Given the description of an element on the screen output the (x, y) to click on. 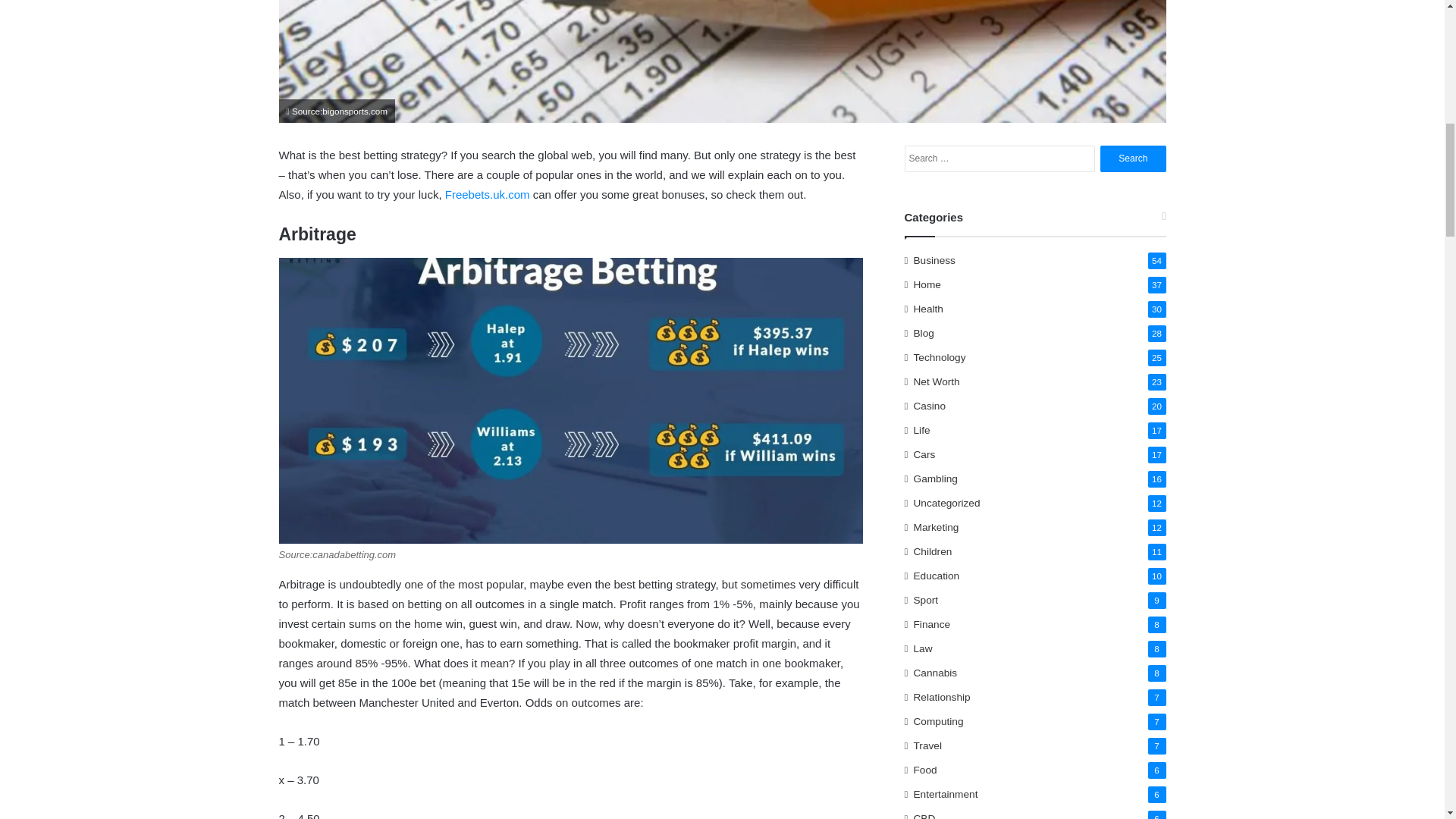
Search (1133, 158)
Search (1133, 158)
Freebets.uk.com (487, 194)
